Given the description of an element on the screen output the (x, y) to click on. 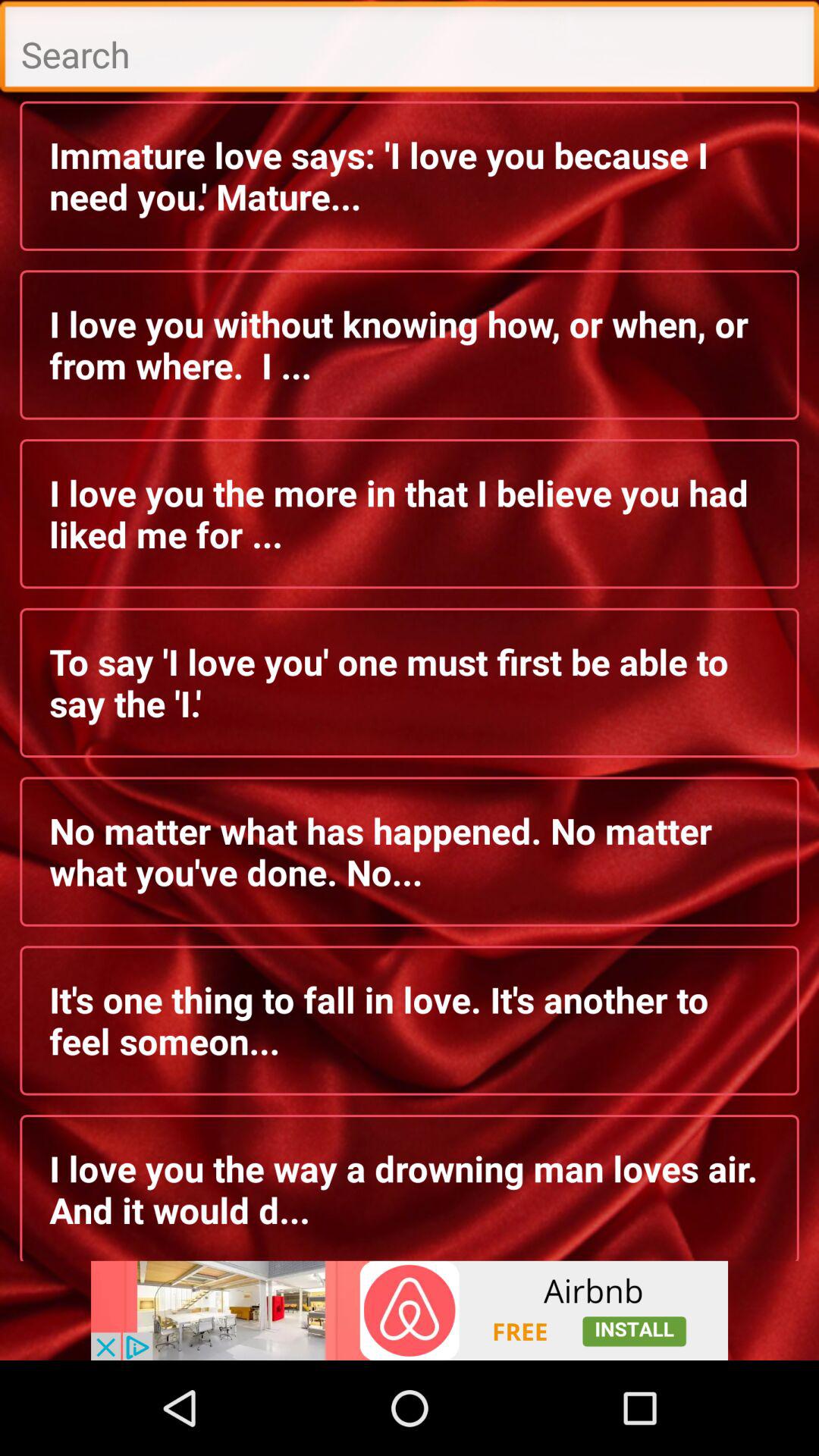
open search (409, 50)
